Given the description of an element on the screen output the (x, y) to click on. 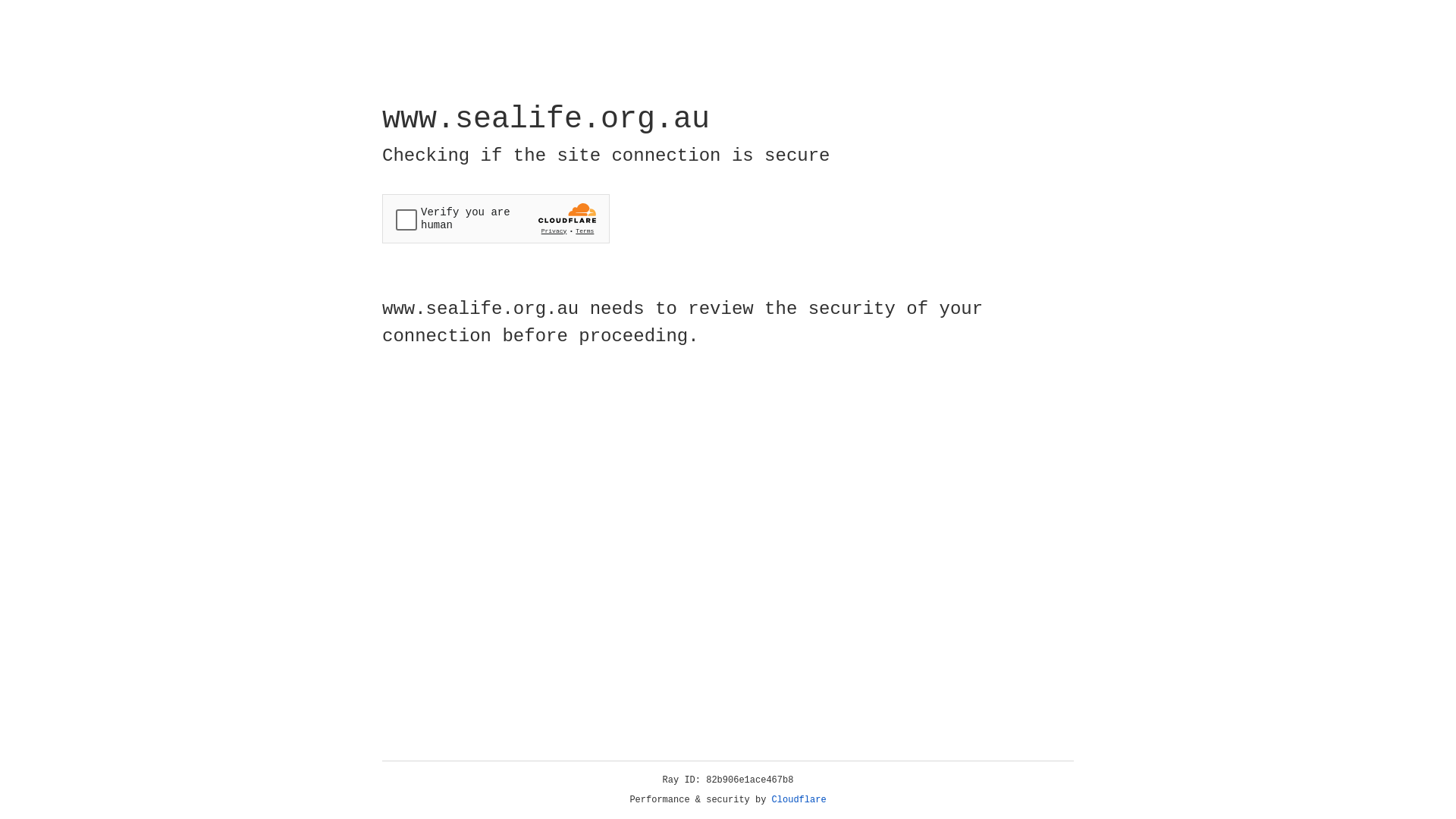
Widget containing a Cloudflare security challenge Element type: hover (495, 218)
Cloudflare Element type: text (798, 799)
